Given the description of an element on the screen output the (x, y) to click on. 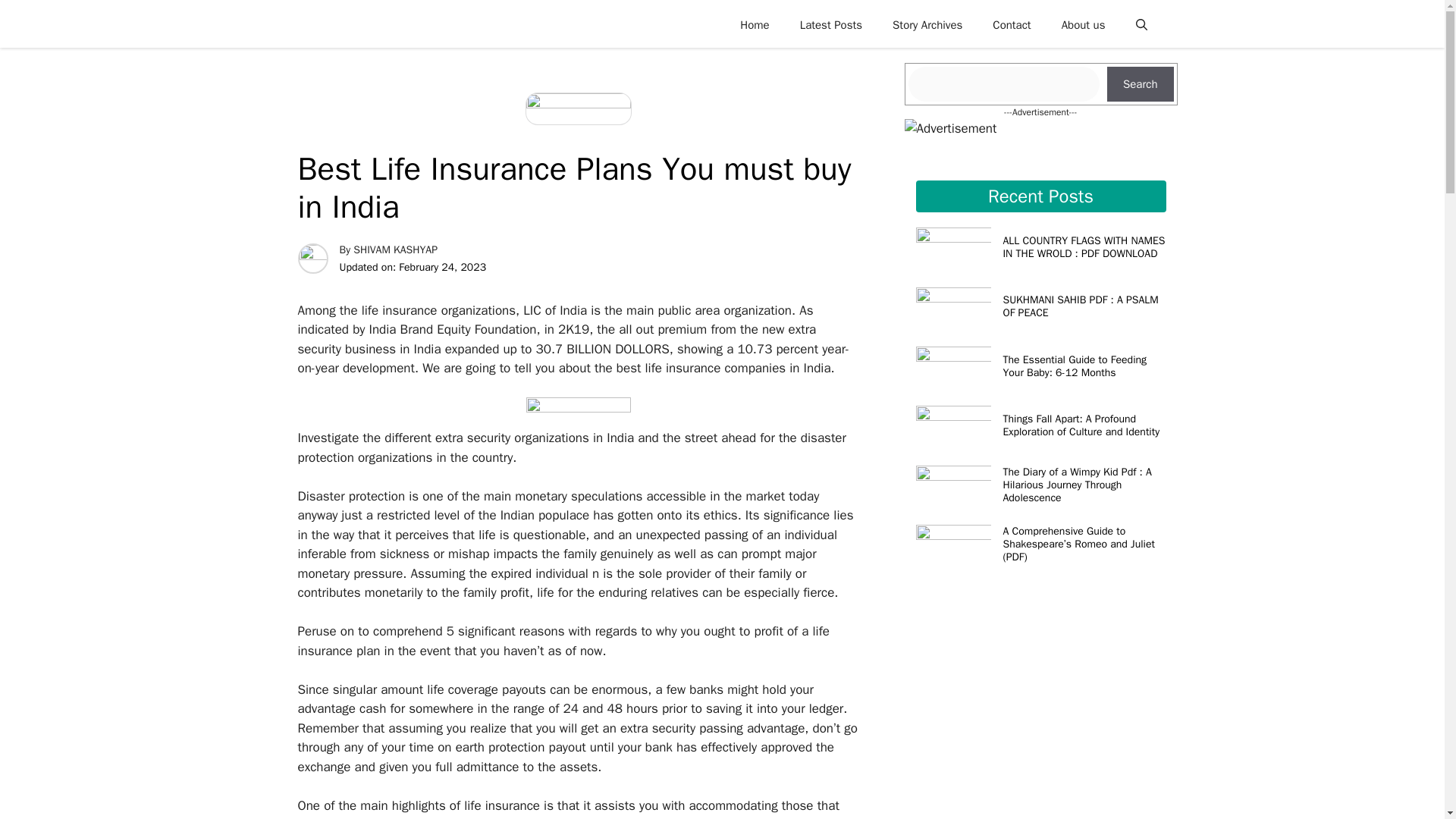
ALL COUNTRY FLAGS WITH NAMES IN THE WROLD : PDF DOWNLOAD (1083, 247)
Home (754, 24)
SHIVAM KASHYAP (395, 249)
Story Archives (926, 24)
Search (1139, 83)
Latest Posts (830, 24)
About us (1083, 24)
The Essential Guide to Feeding Your Baby: 6-12 Months (1075, 365)
